Given the description of an element on the screen output the (x, y) to click on. 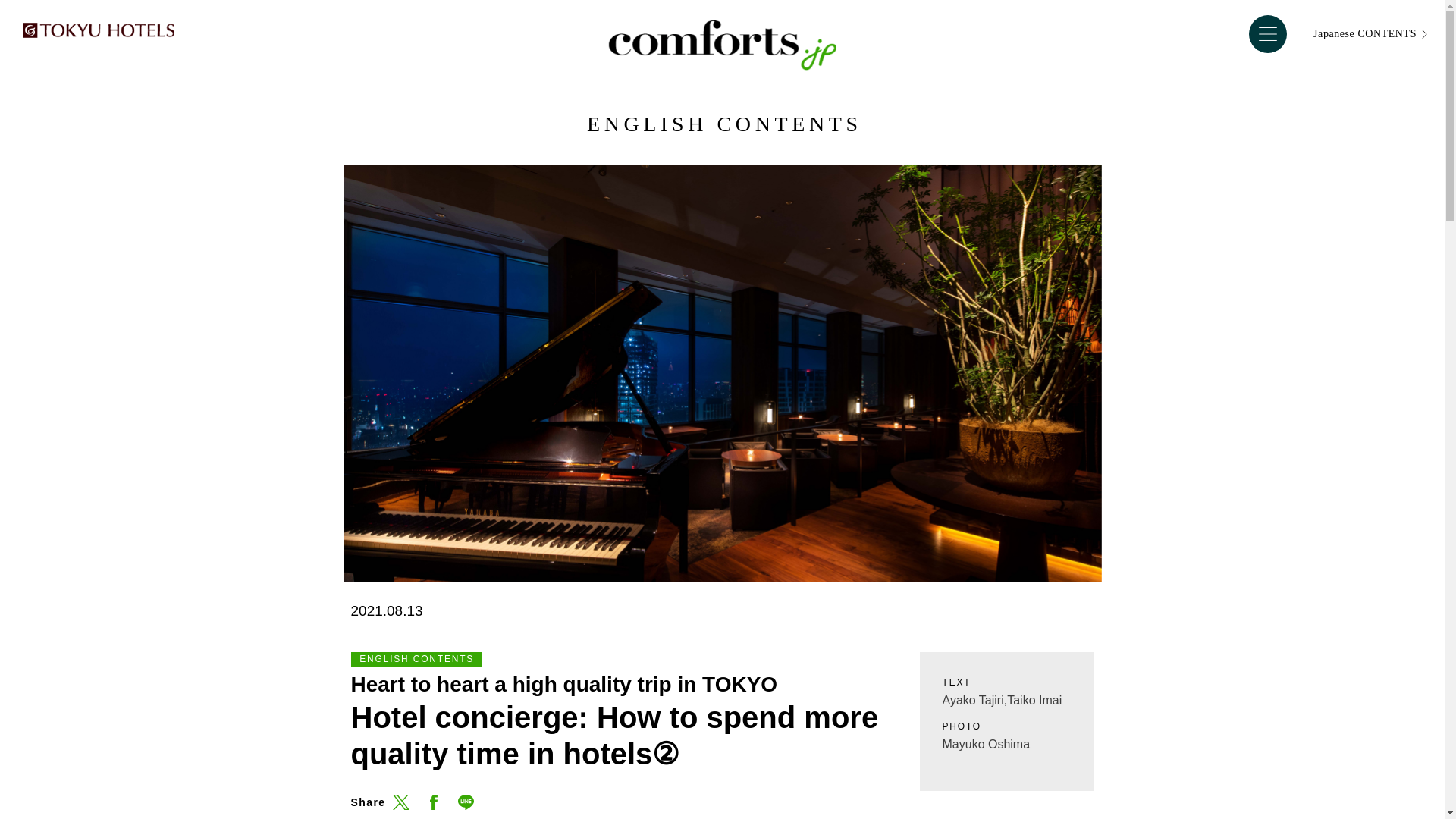
Japanese CONTENTS (1369, 33)
